Given the description of an element on the screen output the (x, y) to click on. 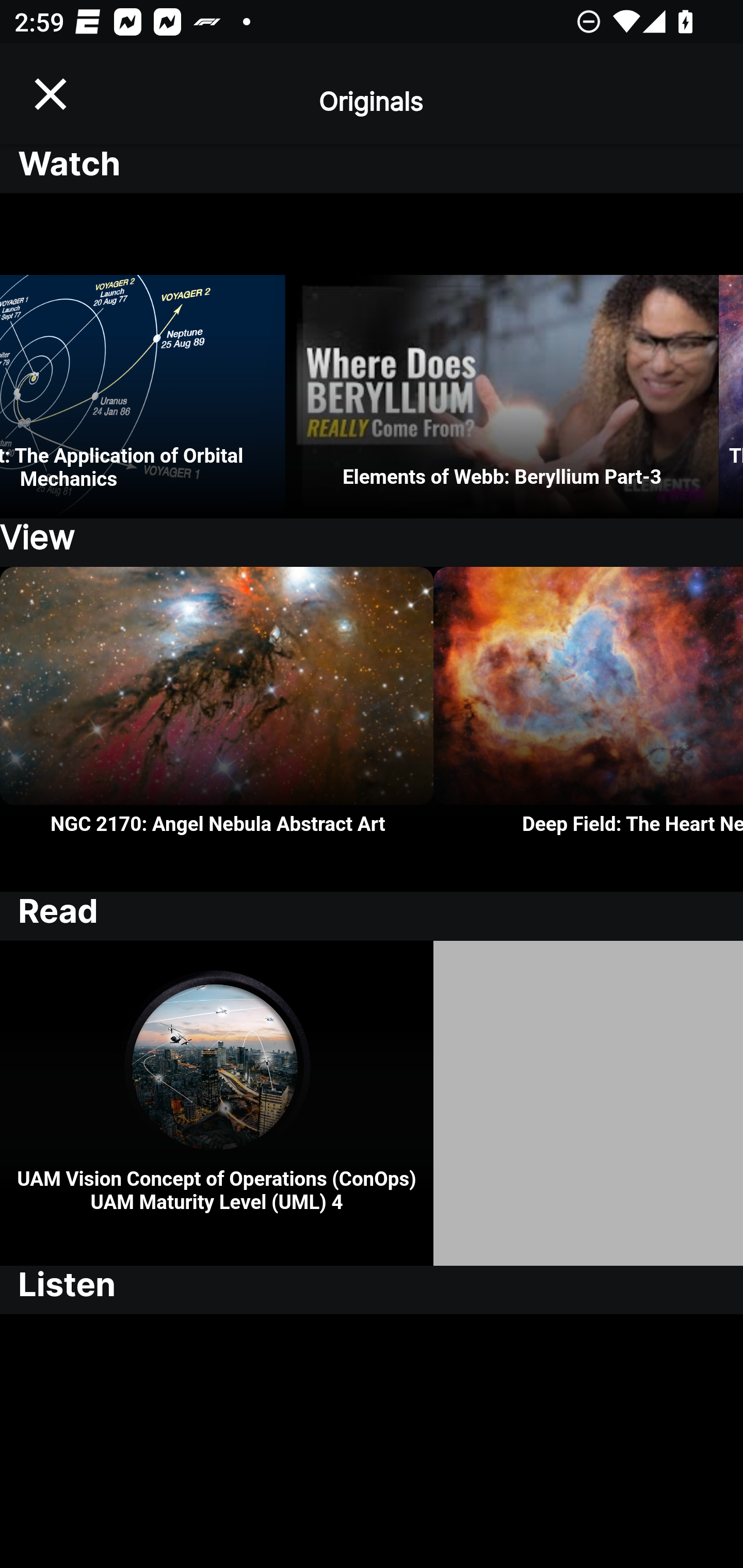
Space Flight: The Application of Orbital Mechanics (142, 355)
Elements of Webb: Beryllium Part-3 (501, 355)
NGC 2170: Angel Nebula Abstract Art (216, 729)
Deep Field: The Heart Nebula (588, 729)
